Given the description of an element on the screen output the (x, y) to click on. 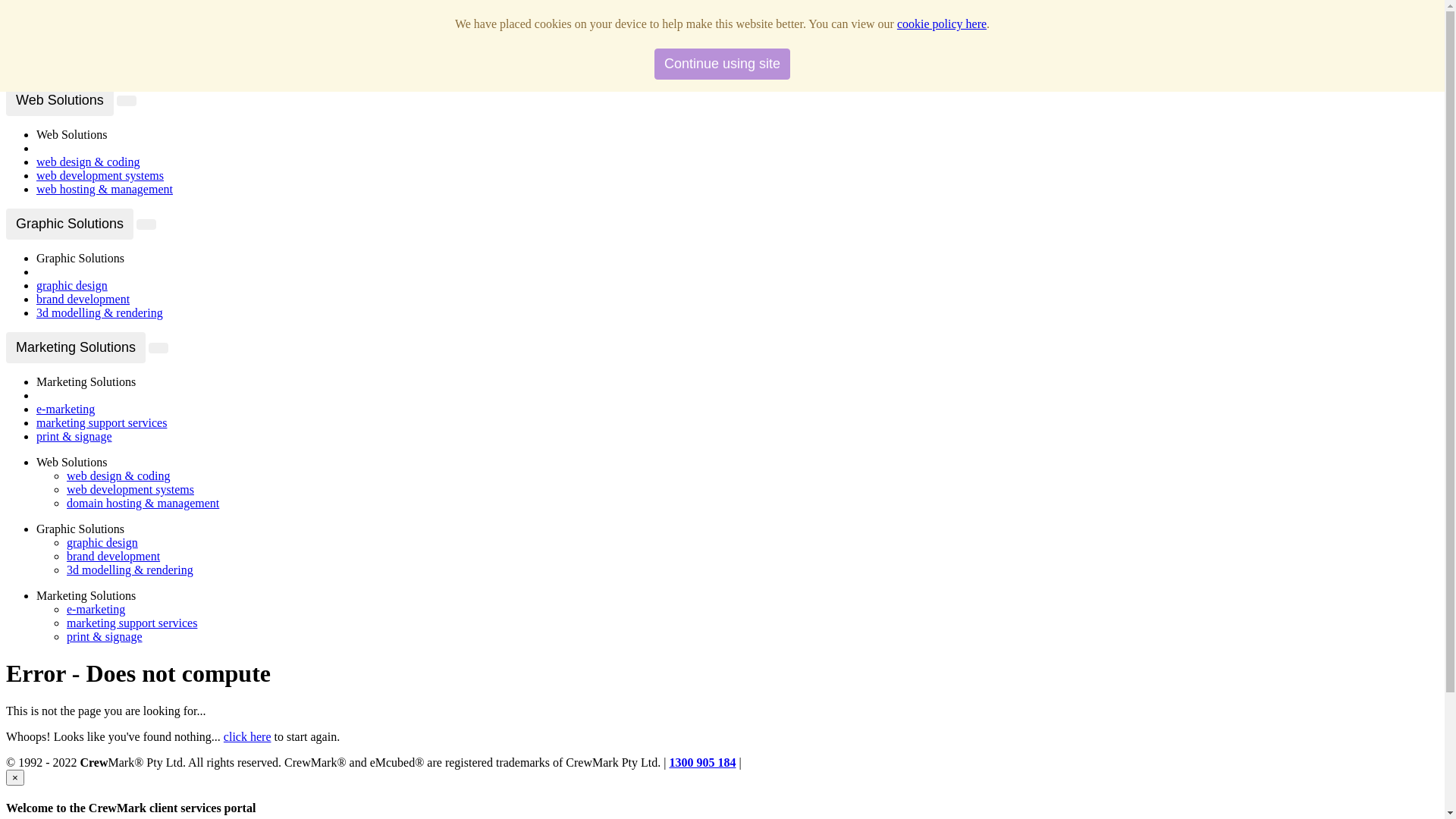
Privacy Statement Element type: text (788, 762)
1300 905 184 Element type: text (701, 762)
web development systems Element type: text (130, 489)
Contact Us Element type: text (63, 51)
e-marketing Element type: text (65, 408)
e-marketing Element type: text (95, 608)
web development systems Element type: text (99, 175)
Continue using site Element type: text (722, 63)
graphic design Element type: text (102, 542)
3d modelling & rendering Element type: text (99, 312)
marketing support services Element type: text (101, 422)
print & signage Element type: text (74, 435)
print & signage Element type: text (104, 636)
3d modelling & rendering Element type: text (129, 569)
Client Services Element type: text (72, 65)
cookie policy here Element type: text (941, 23)
web design & coding Element type: text (87, 161)
brand development Element type: text (113, 555)
marketing support services Element type: text (131, 622)
brand development Element type: text (82, 298)
Graphic Solutions Element type: text (69, 223)
Profile Element type: text (52, 37)
Web Solutions Element type: text (59, 100)
domain hosting & management Element type: text (142, 502)
click here Element type: text (247, 736)
web design & coding Element type: text (117, 475)
graphic design Element type: text (71, 285)
web hosting & management Element type: text (104, 188)
Marketing Solutions Element type: text (75, 347)
